Given the description of an element on the screen output the (x, y) to click on. 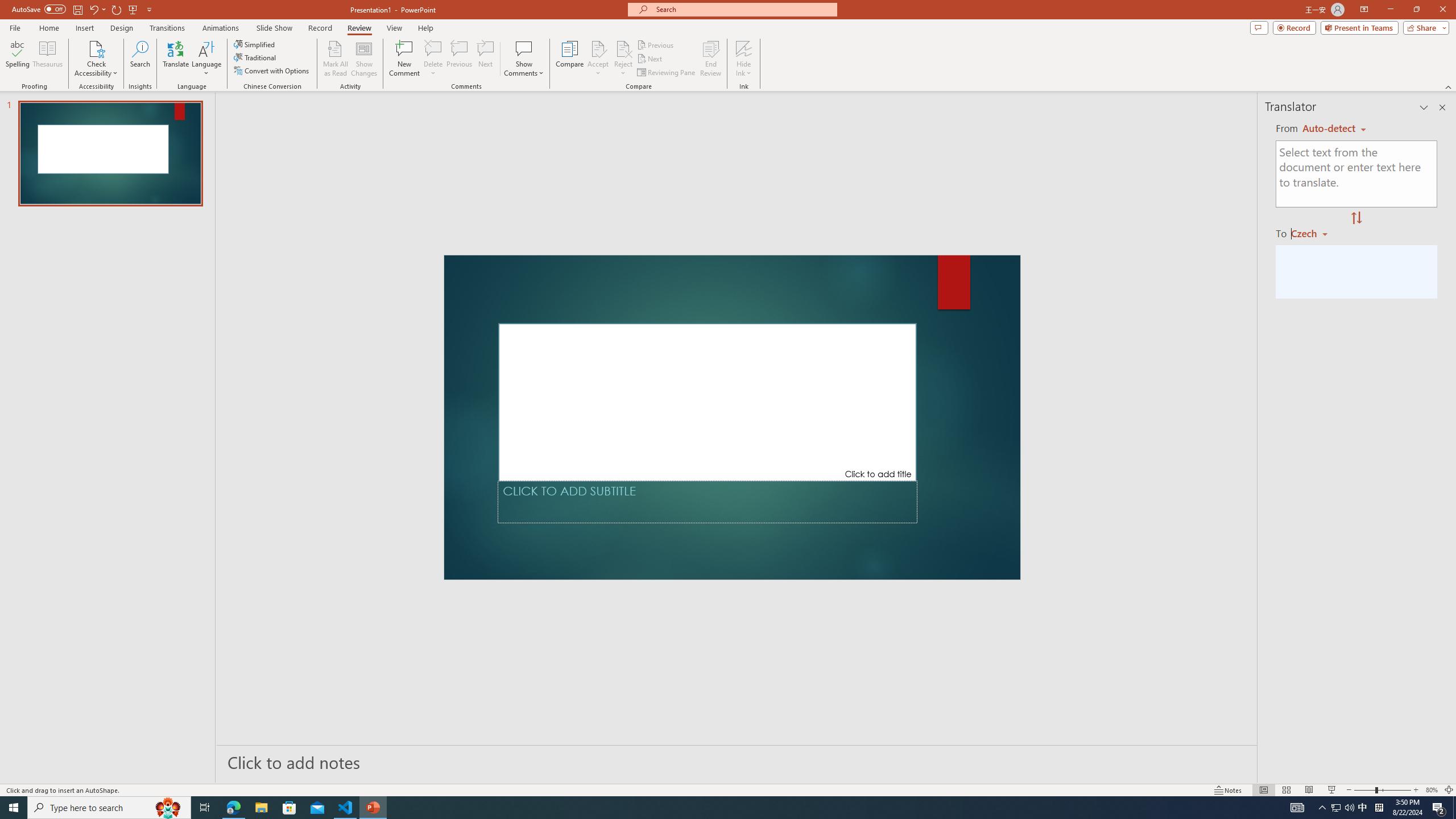
Traditional (255, 56)
Convert with Options... (272, 69)
